Given the description of an element on the screen output the (x, y) to click on. 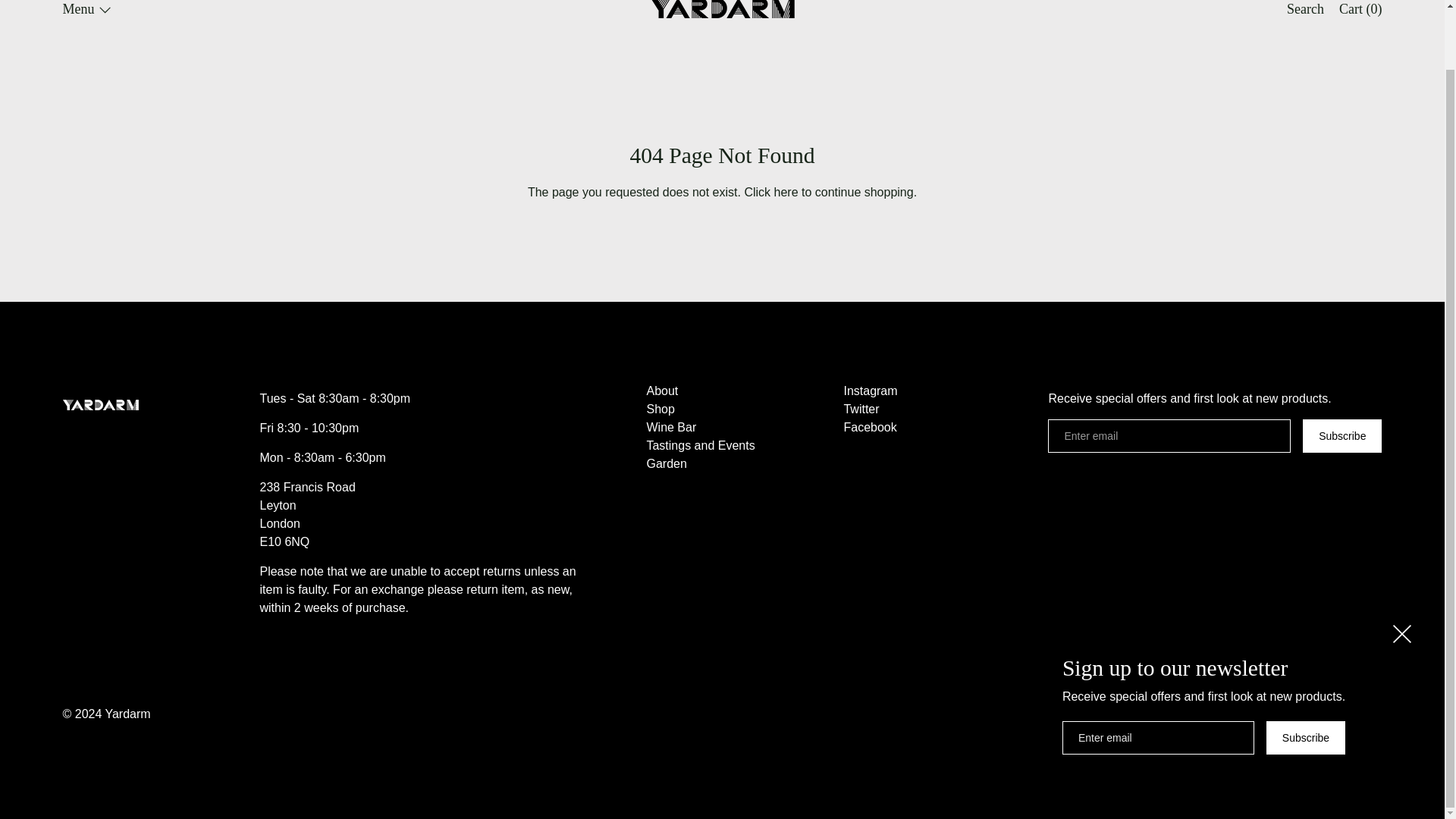
Menu (87, 10)
here (785, 192)
Search (1305, 10)
About (662, 391)
